Given the description of an element on the screen output the (x, y) to click on. 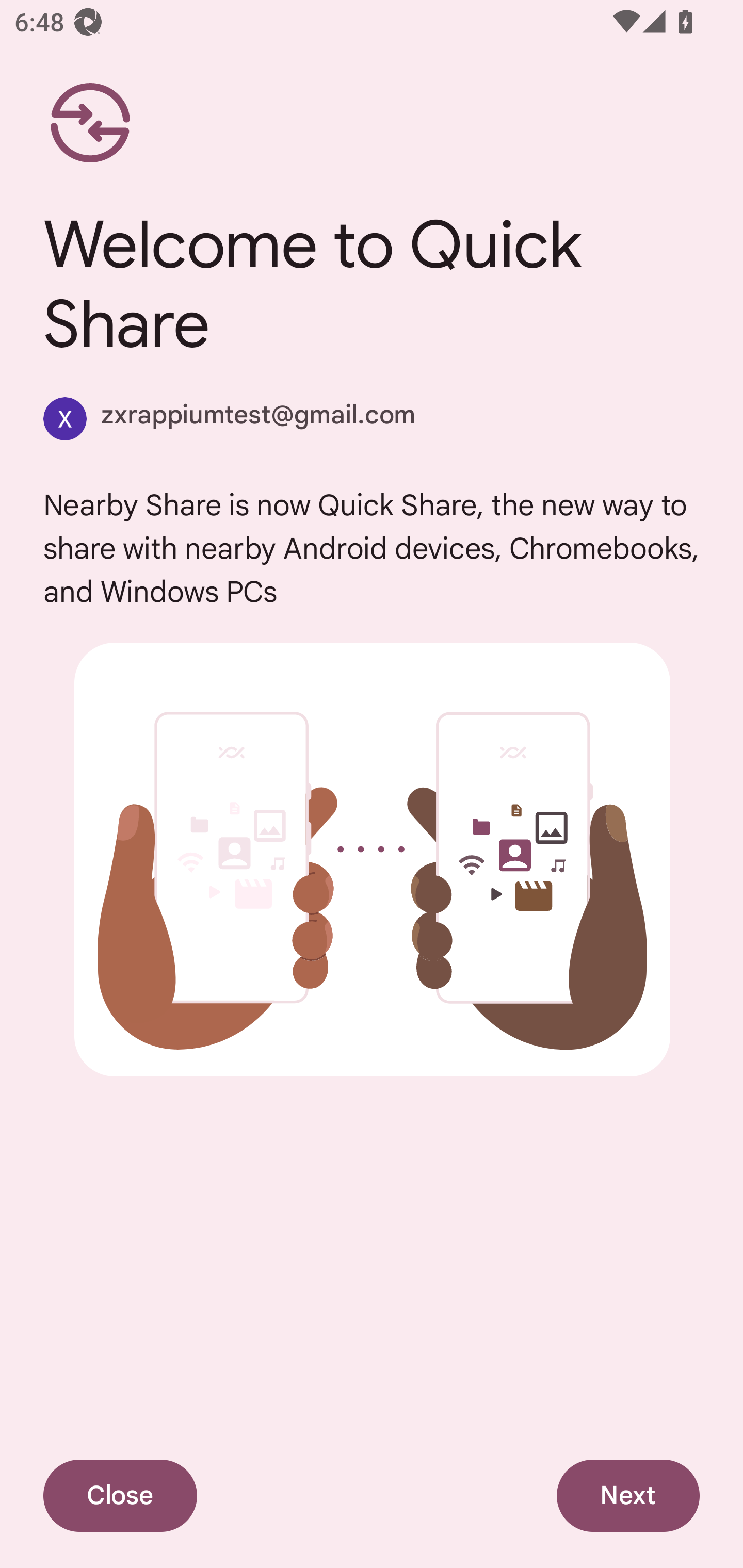
Close (119, 1495)
Next (627, 1495)
